Given the description of an element on the screen output the (x, y) to click on. 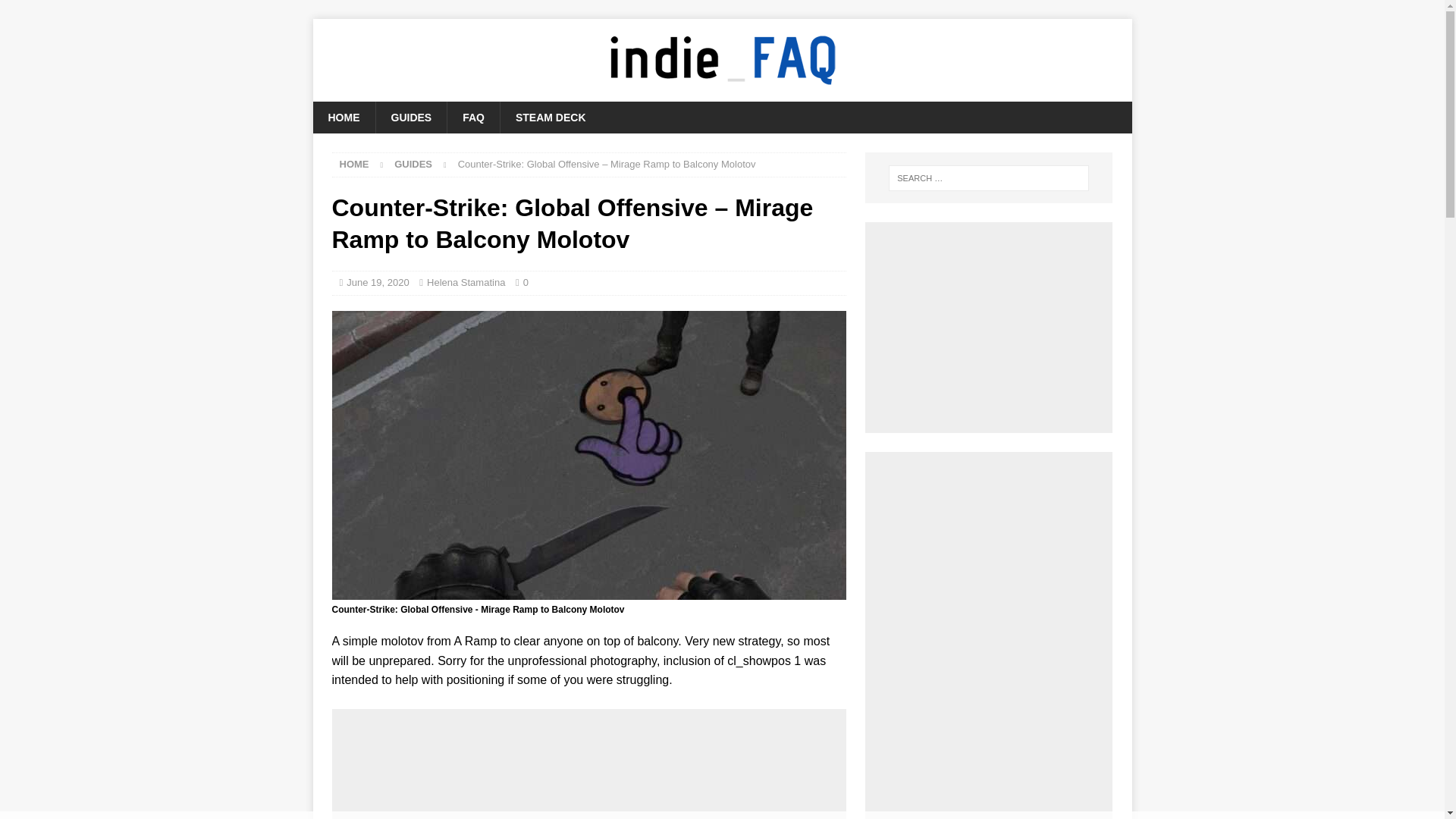
Home (354, 163)
Guides (413, 163)
STEAM DECK (550, 117)
GUIDES (413, 163)
Helena Stamatina (465, 282)
HOME (354, 163)
GUIDES (410, 117)
FAQ (472, 117)
0 (525, 282)
HOME (343, 117)
June 19, 2020 (377, 282)
